Given the description of an element on the screen output the (x, y) to click on. 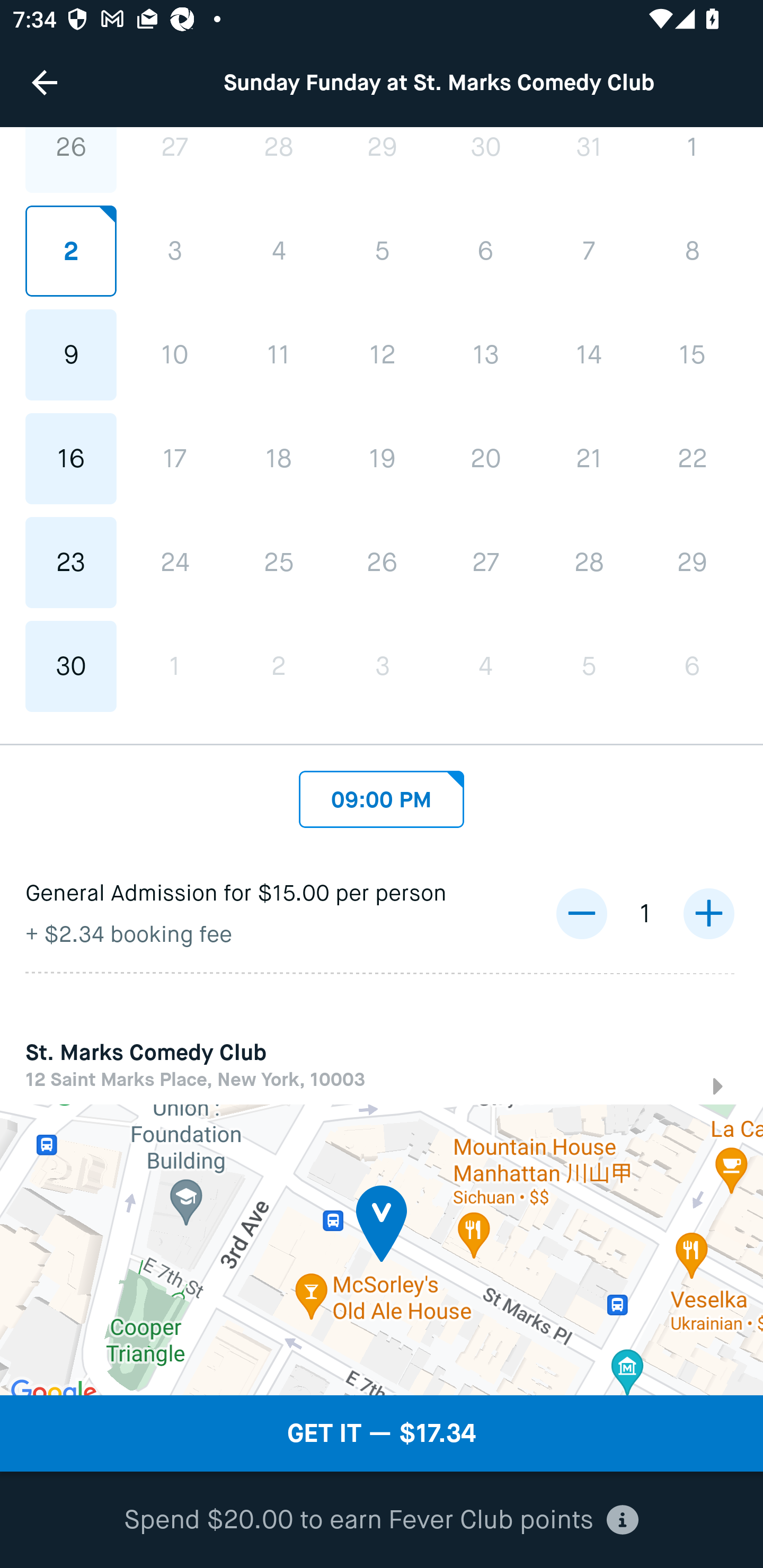
Navigate up (44, 82)
26 (70, 159)
27 (174, 159)
28 (278, 159)
29 (382, 159)
30 (485, 159)
31 (588, 159)
1 (692, 159)
2 (70, 250)
3 (174, 250)
4 (278, 250)
5 (382, 250)
6 (485, 250)
7 (588, 250)
8 (692, 250)
9 (70, 353)
10 (174, 353)
11 (278, 353)
12 (382, 353)
13 (485, 353)
14 (588, 353)
15 (692, 353)
16 (70, 458)
17 (174, 458)
18 (278, 458)
19 (382, 458)
20 (485, 458)
21 (588, 458)
22 (692, 458)
23 (70, 562)
24 (174, 562)
25 (278, 562)
26 (382, 562)
27 (485, 562)
28 (588, 562)
29 (692, 562)
30 (70, 665)
1 (174, 665)
2 (278, 665)
3 (382, 665)
4 (485, 665)
5 (588, 665)
6 (692, 665)
09:00 PM (381, 793)
decrease (581, 912)
increase (708, 912)
Google Map Map Marker (381, 1249)
GET IT — $17.34 (381, 1433)
Spend $20.00 to earn Fever Club points (381, 1519)
